Given the description of an element on the screen output the (x, y) to click on. 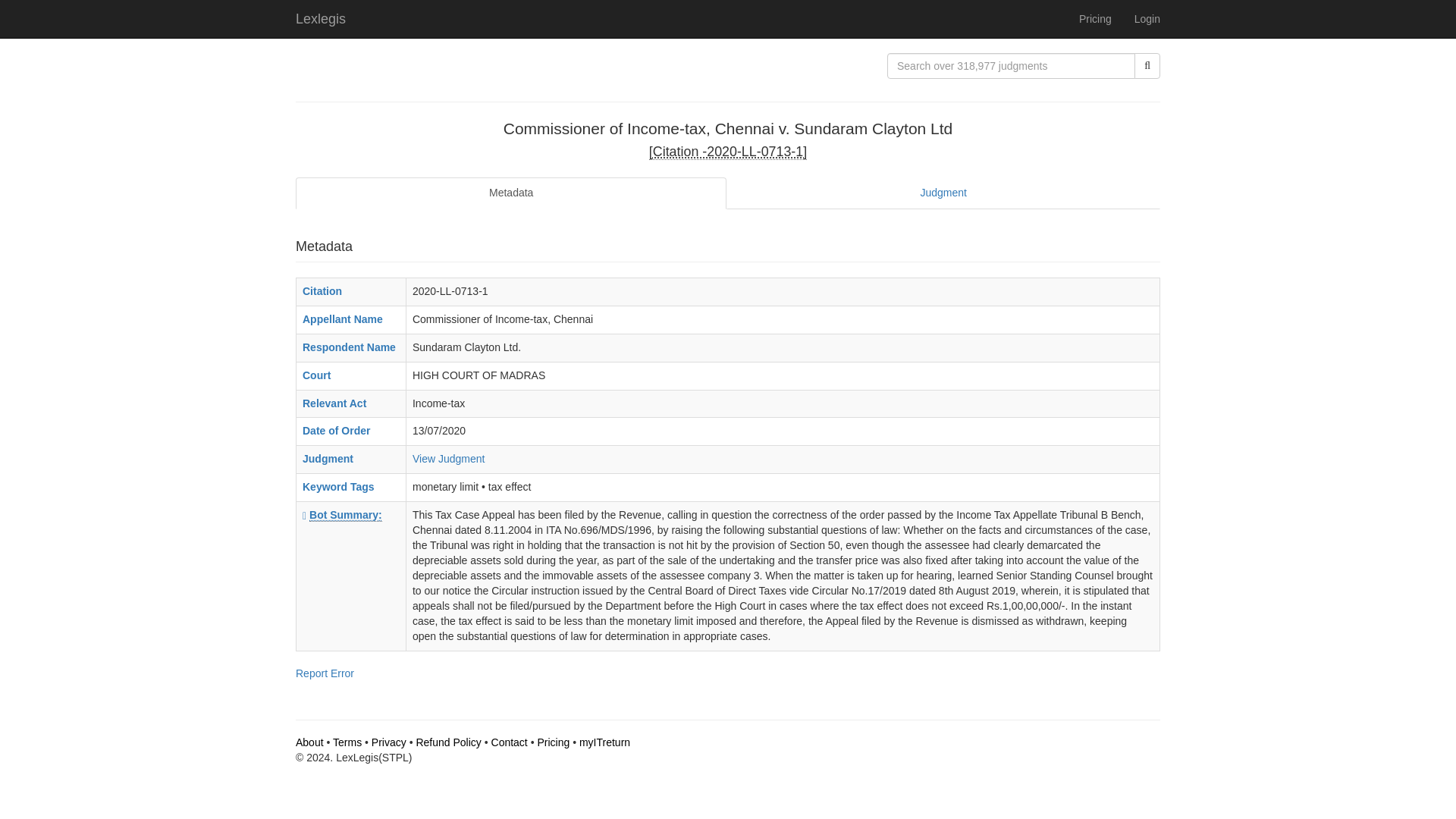
Judgment (943, 193)
Contact (509, 742)
LexLegis-Citation (727, 151)
Terms (347, 742)
Report Error (324, 673)
Pricing (553, 742)
Login (1147, 18)
Lexlegis (319, 18)
Refund Policy (447, 742)
Privacy (388, 742)
About (309, 742)
Pricing (1094, 18)
myITreturn (604, 742)
View Judgment (448, 458)
Metadata (510, 193)
